Given the description of an element on the screen output the (x, y) to click on. 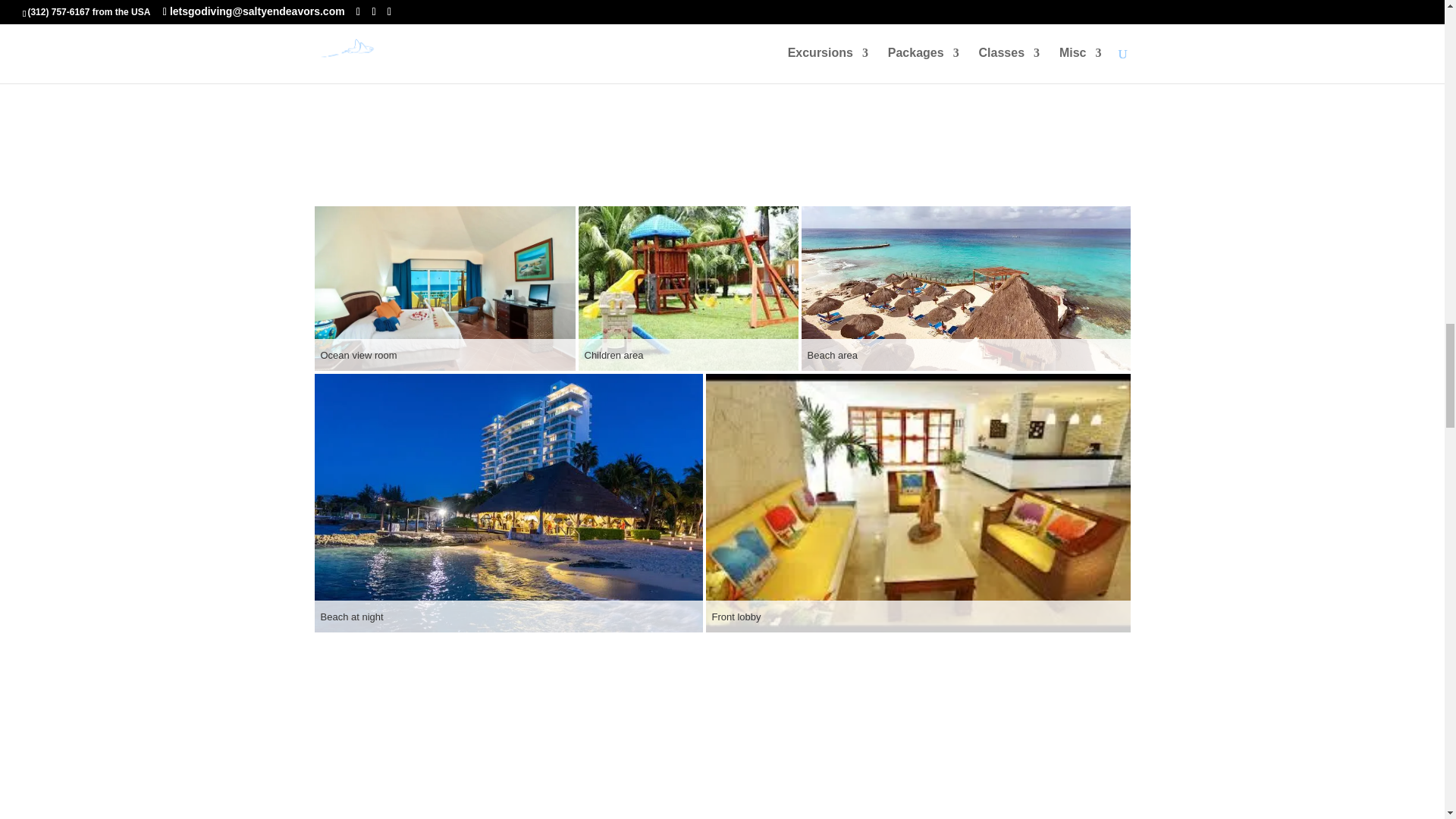
HI566278262 (444, 288)
